Given the description of an element on the screen output the (x, y) to click on. 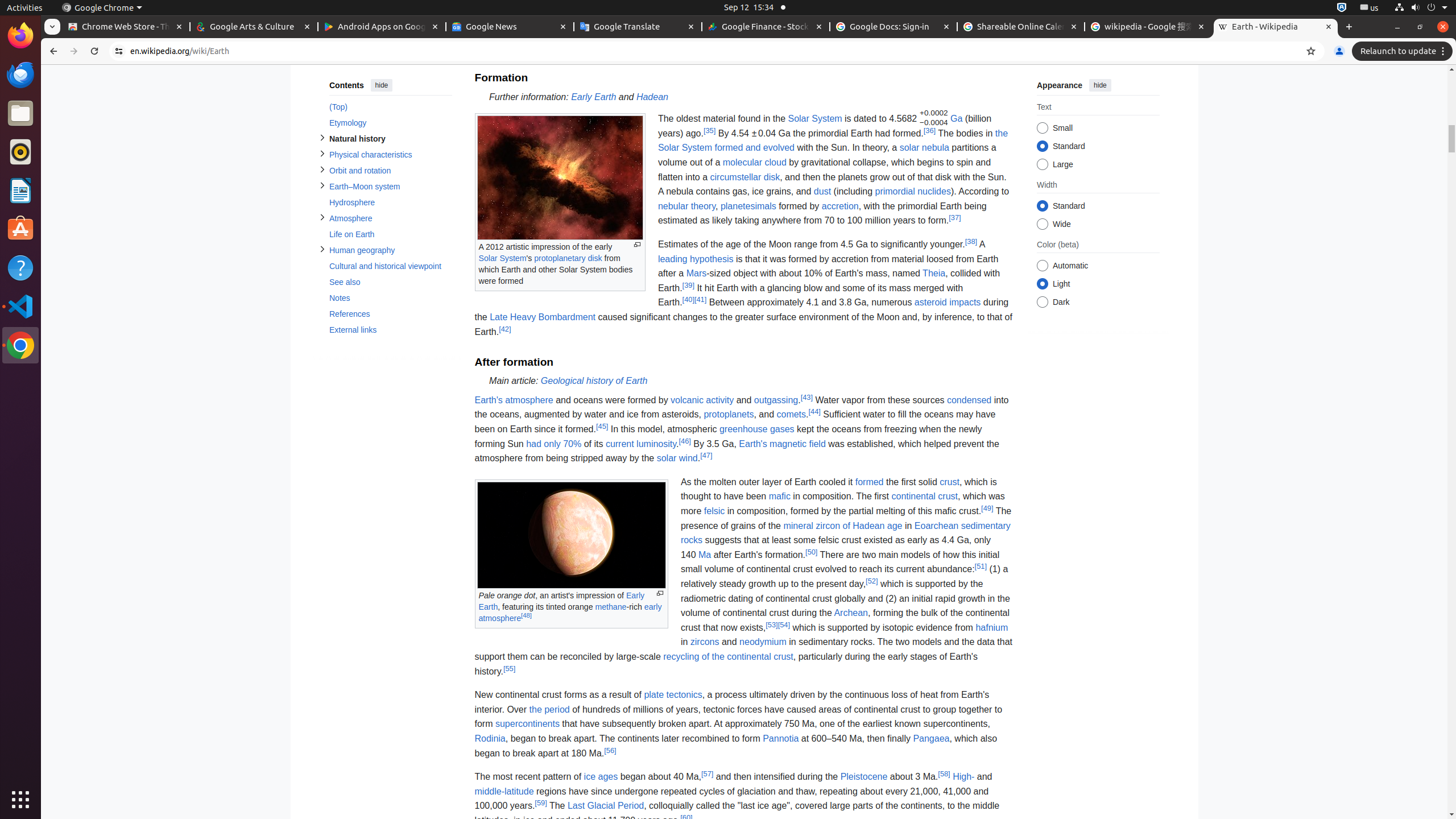
Rhythmbox Element type: push-button (20, 151)
felsic Element type: link (714, 511)
Toggle Orbit and rotation subsection Element type: push-button (321, 169)
Hydrosphere Element type: link (390, 202)
Reload Element type: push-button (94, 50)
